Given the description of an element on the screen output the (x, y) to click on. 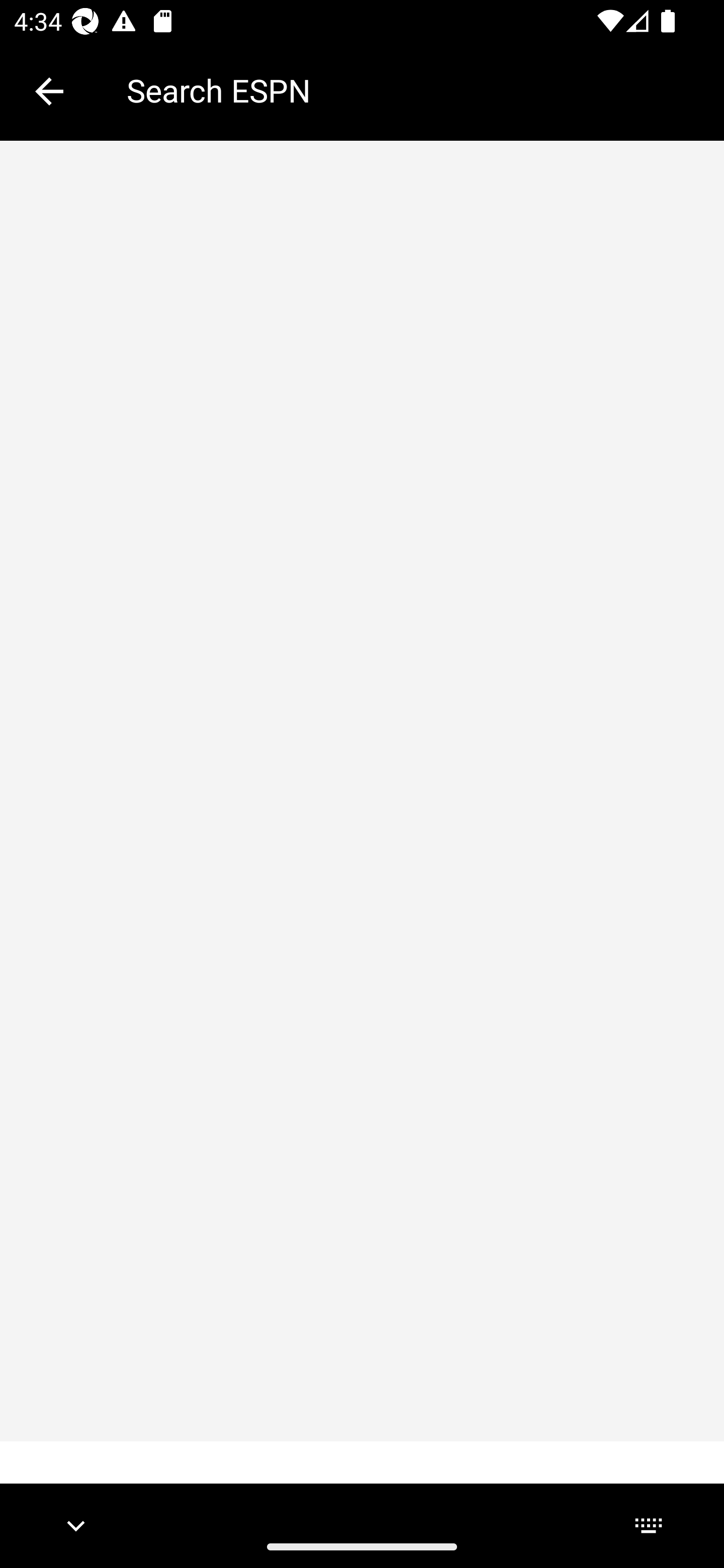
Collapse (49, 91)
Search ESPN (411, 90)
